Given the description of an element on the screen output the (x, y) to click on. 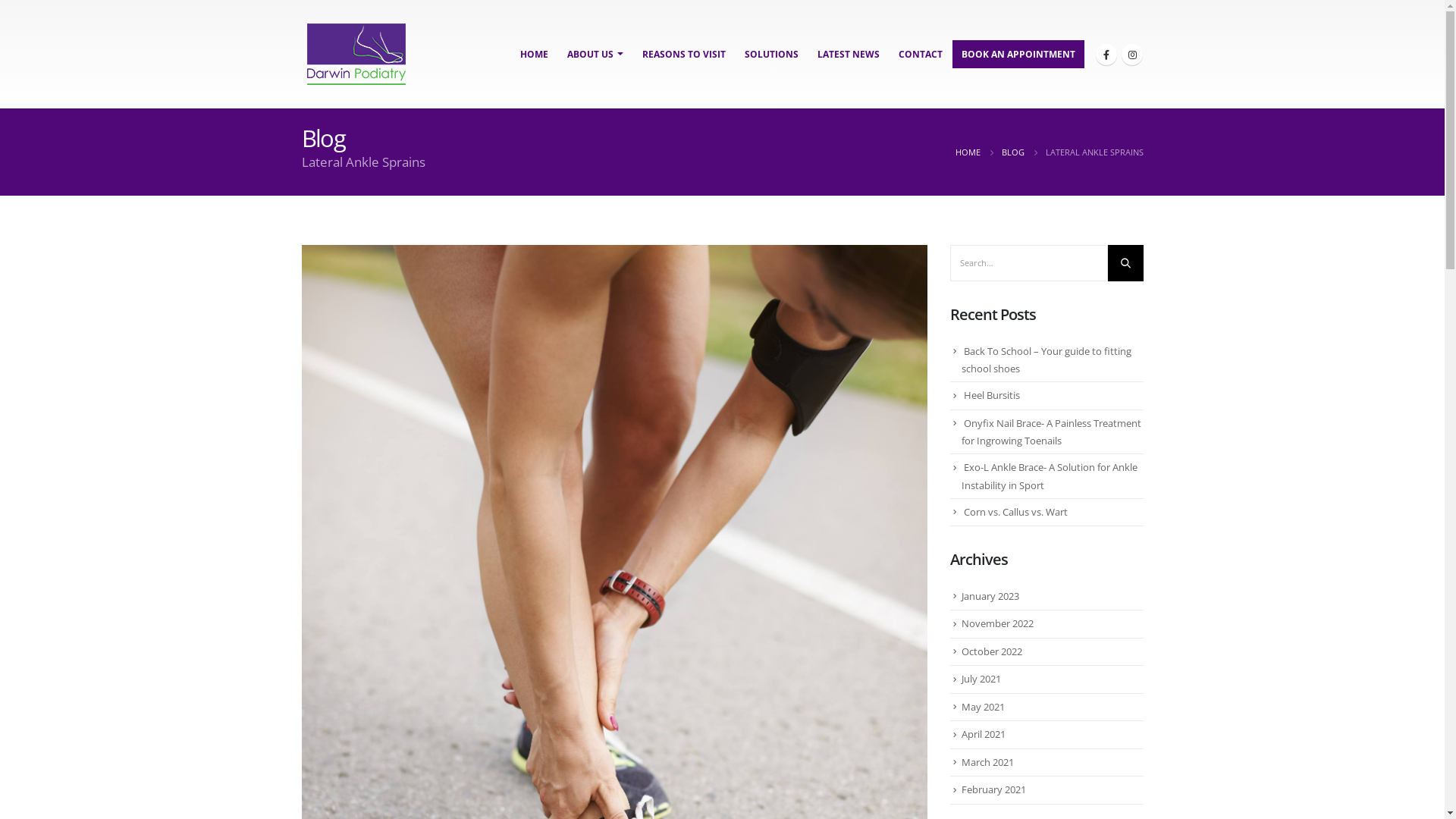
ABOUT US Element type: text (595, 54)
February 2021 Element type: text (993, 789)
January 2023 Element type: text (990, 595)
May 2021 Element type: text (982, 706)
BLOG Element type: text (1012, 152)
November 2022 Element type: text (997, 623)
October 2022 Element type: text (991, 651)
Corn vs. Callus vs. Wart Element type: text (1014, 511)
HOME Element type: text (967, 152)
July 2021 Element type: text (981, 678)
Heel Bursitis Element type: text (991, 394)
April 2021 Element type: text (983, 733)
HOME Element type: text (534, 54)
REASONS TO VISIT Element type: text (683, 54)
Exo-L Ankle Brace- A Solution for Ankle Instability in Sport Element type: text (1049, 476)
Facebook Element type: hover (1105, 54)
BOOK AN APPOINTMENT Element type: text (1018, 54)
CONTACT Element type: text (919, 54)
SOLUTIONS Element type: text (771, 54)
LATEST NEWS Element type: text (848, 54)
Darwin Podiatry - Your Local Podiatry Clinic Element type: hover (355, 53)
Instagram Element type: hover (1131, 54)
March 2021 Element type: text (987, 761)
